Given the description of an element on the screen output the (x, y) to click on. 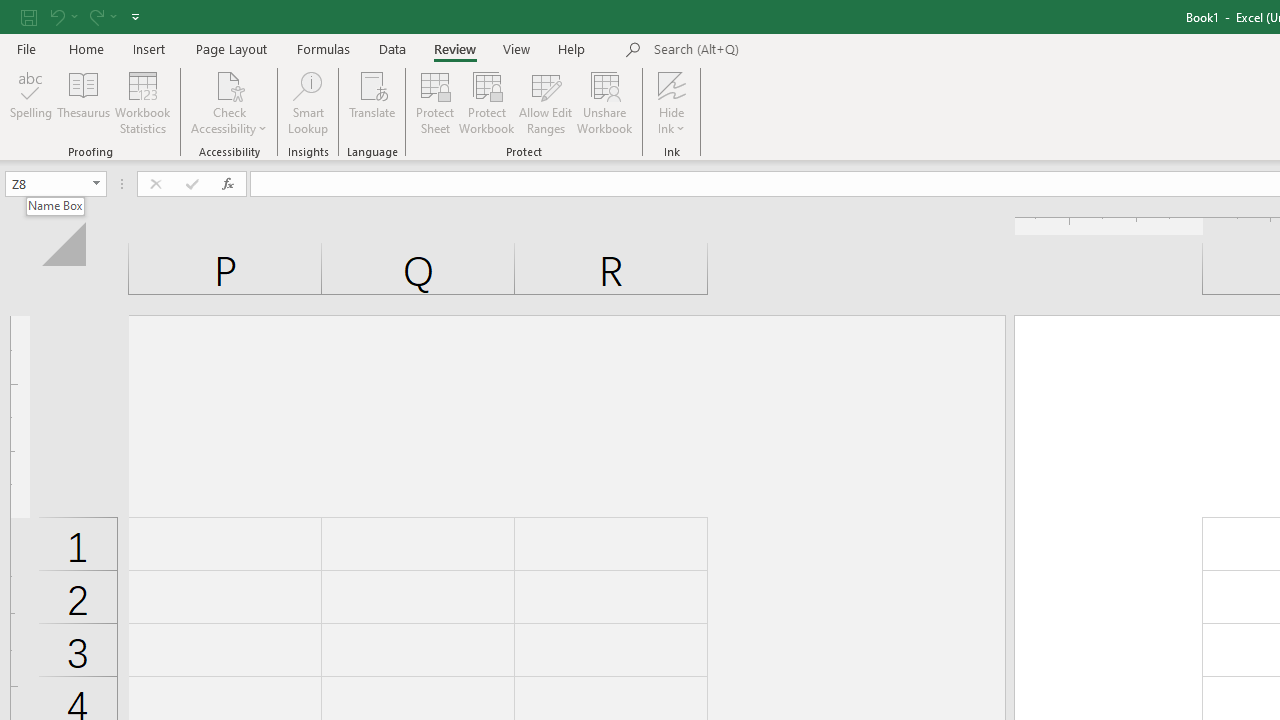
Spelling... (31, 102)
Check Accessibility (229, 84)
Hide Ink (671, 84)
Protect Workbook... (486, 102)
